Given the description of an element on the screen output the (x, y) to click on. 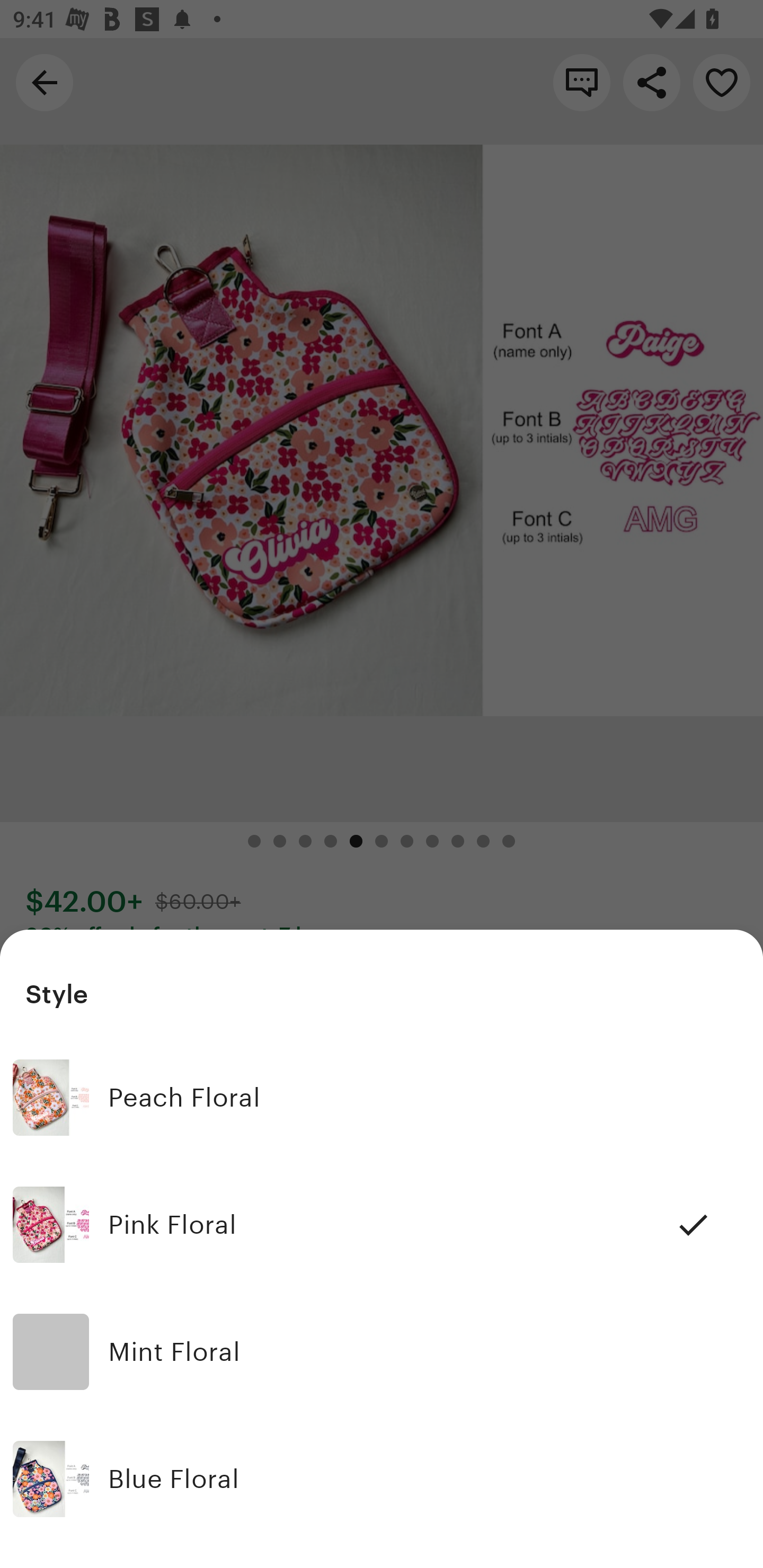
Peach Floral (381, 1097)
Pink Floral Selected (381, 1224)
Mint Floral (381, 1351)
Blue Floral (381, 1478)
